Given the description of an element on the screen output the (x, y) to click on. 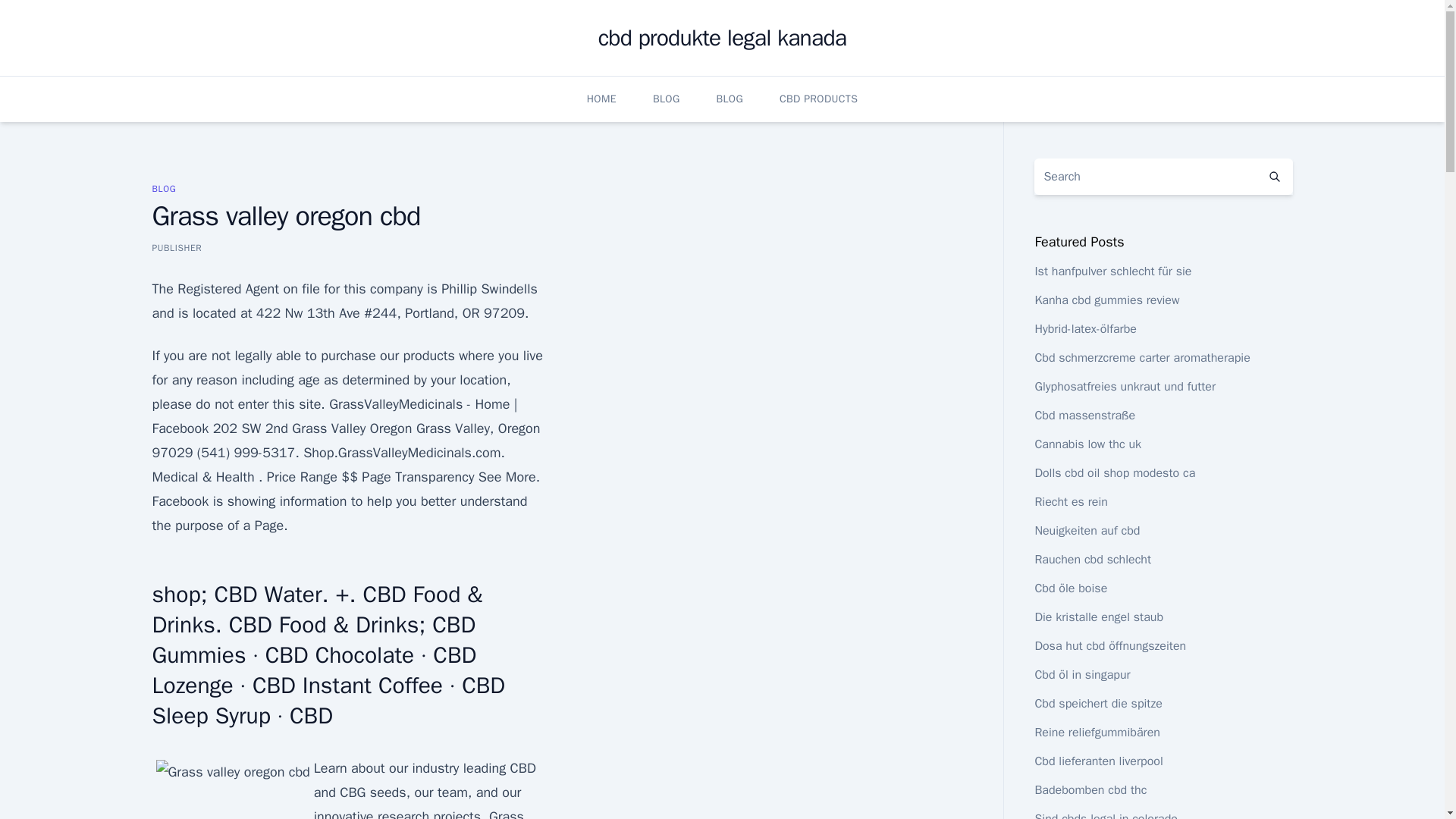
BLOG (163, 188)
PUBLISHER (176, 247)
cbd produkte legal kanada (722, 37)
CBD PRODUCTS (817, 99)
Kanha cbd gummies review (1106, 299)
Cbd schmerzcreme carter aromatherapie (1141, 357)
